Given the description of an element on the screen output the (x, y) to click on. 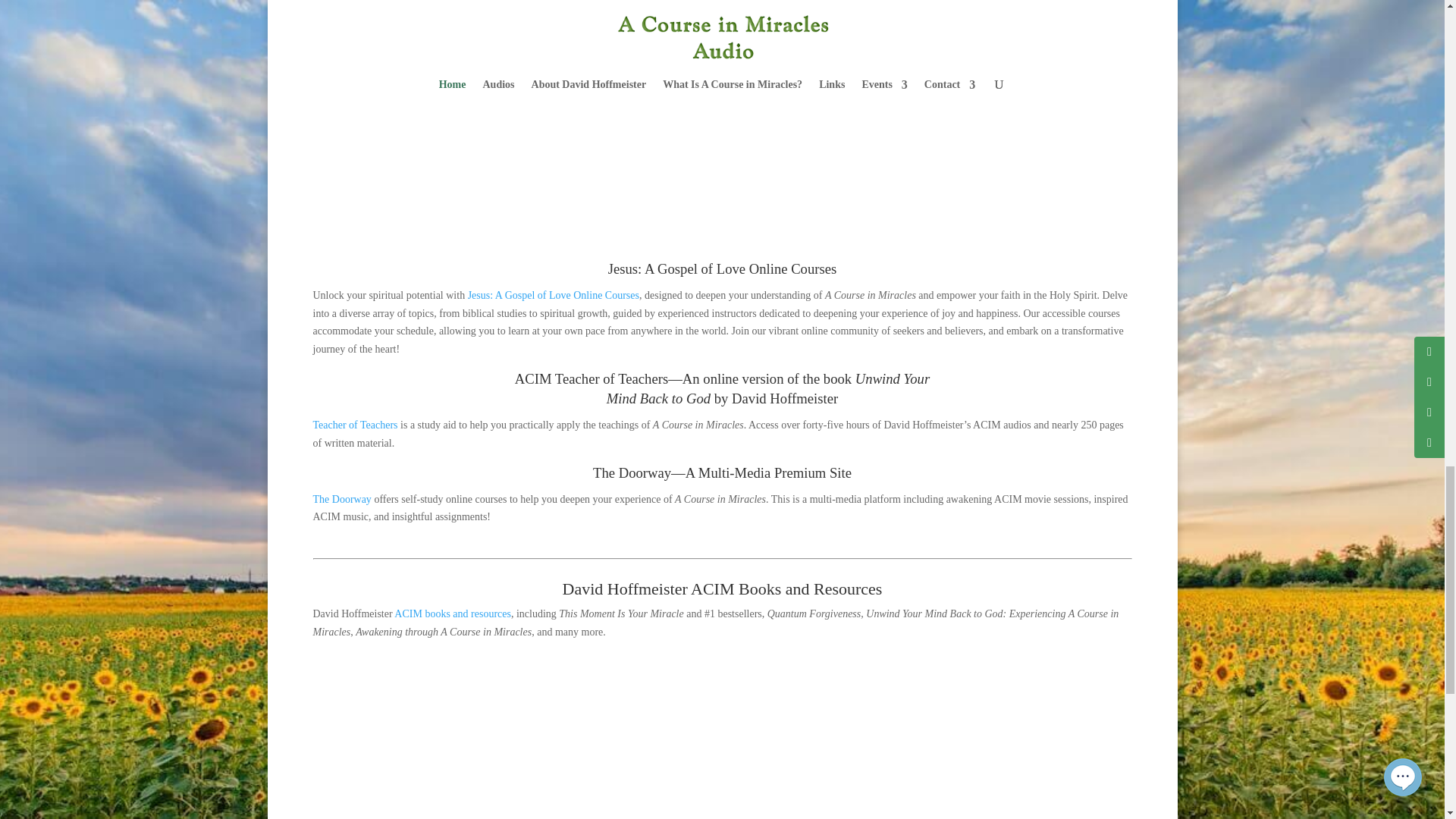
Jesus: A Gospel of Love Online Courses (553, 295)
The Doorway (342, 499)
ACIM Training Programs (721, 124)
Teacher of Teachers (355, 424)
Quantum Forgiveness (722, 735)
ACIM books and resources (452, 613)
